Given the description of an element on the screen output the (x, y) to click on. 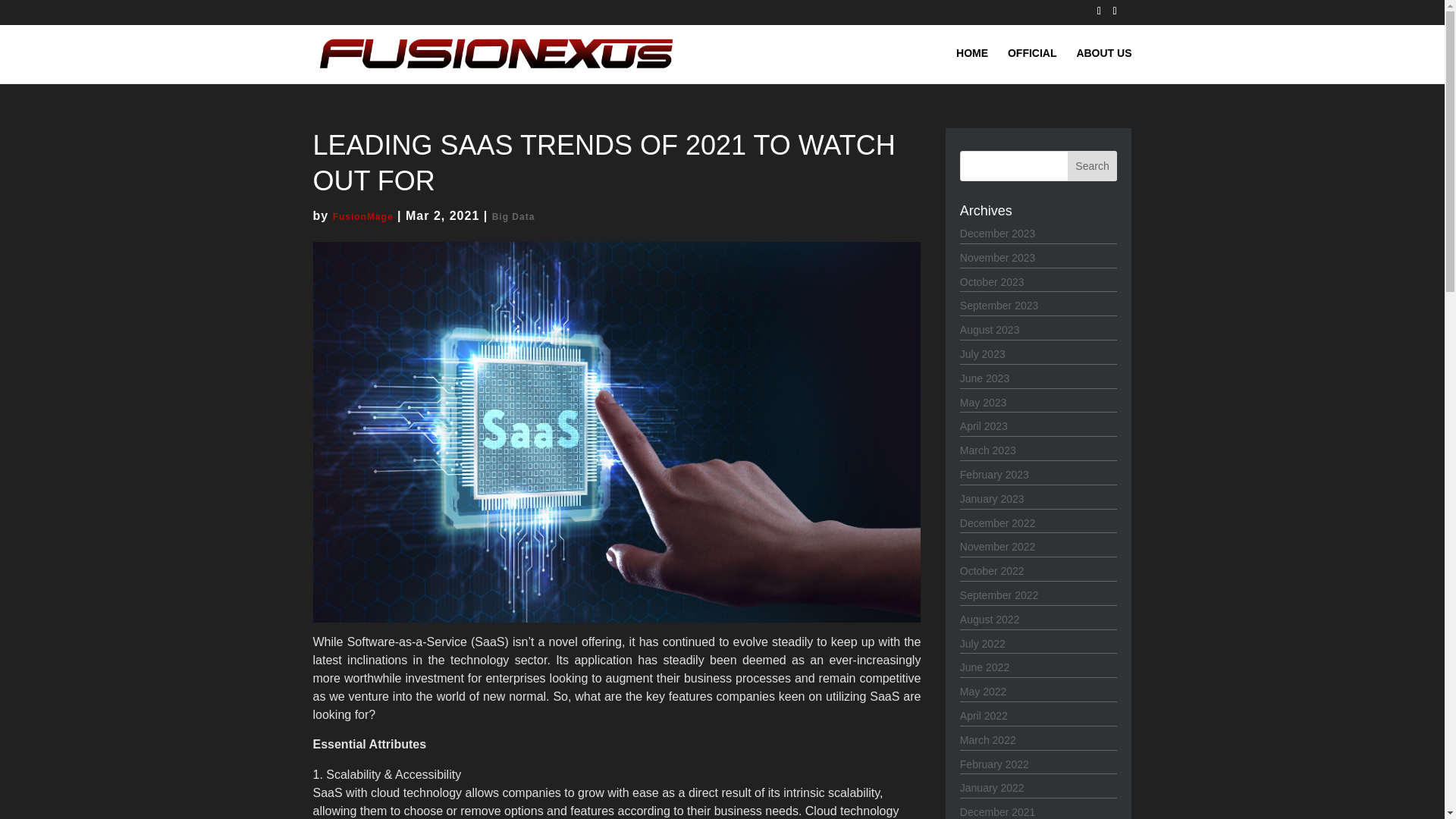
HOME (972, 65)
Search (1092, 165)
May 2022 (982, 691)
November 2022 (997, 546)
March 2022 (987, 739)
September 2023 (999, 305)
October 2022 (992, 571)
OFFICIAL (1032, 65)
April 2022 (983, 715)
September 2022 (999, 594)
November 2023 (997, 257)
July 2023 (982, 354)
January 2023 (992, 499)
August 2023 (989, 329)
August 2022 (989, 619)
